Given the description of an element on the screen output the (x, y) to click on. 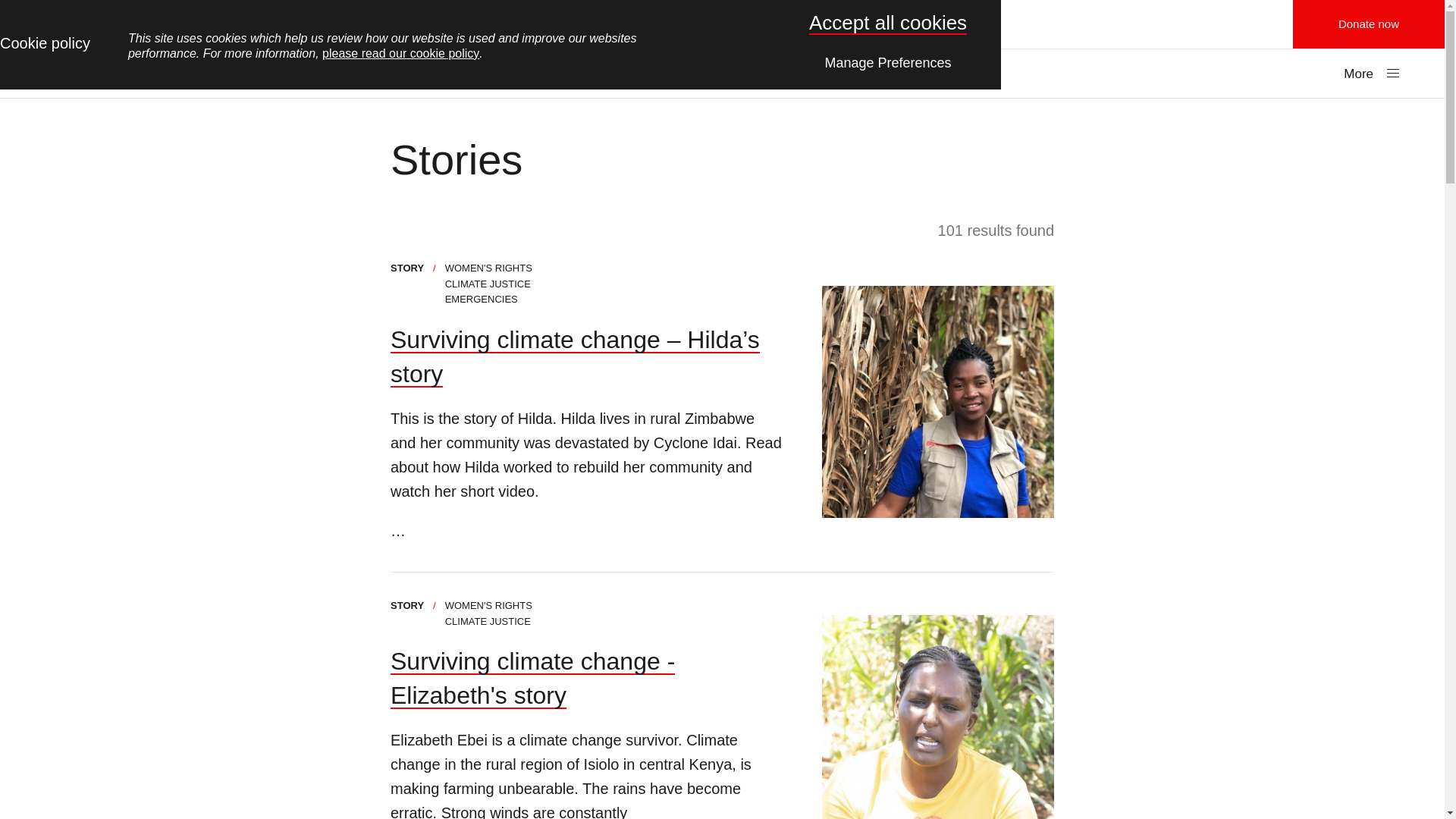
Manage Preferences (887, 61)
please read our cookie policy (400, 52)
ActionAid International Home (722, 23)
Accept all cookies (887, 23)
